Given the description of an element on the screen output the (x, y) to click on. 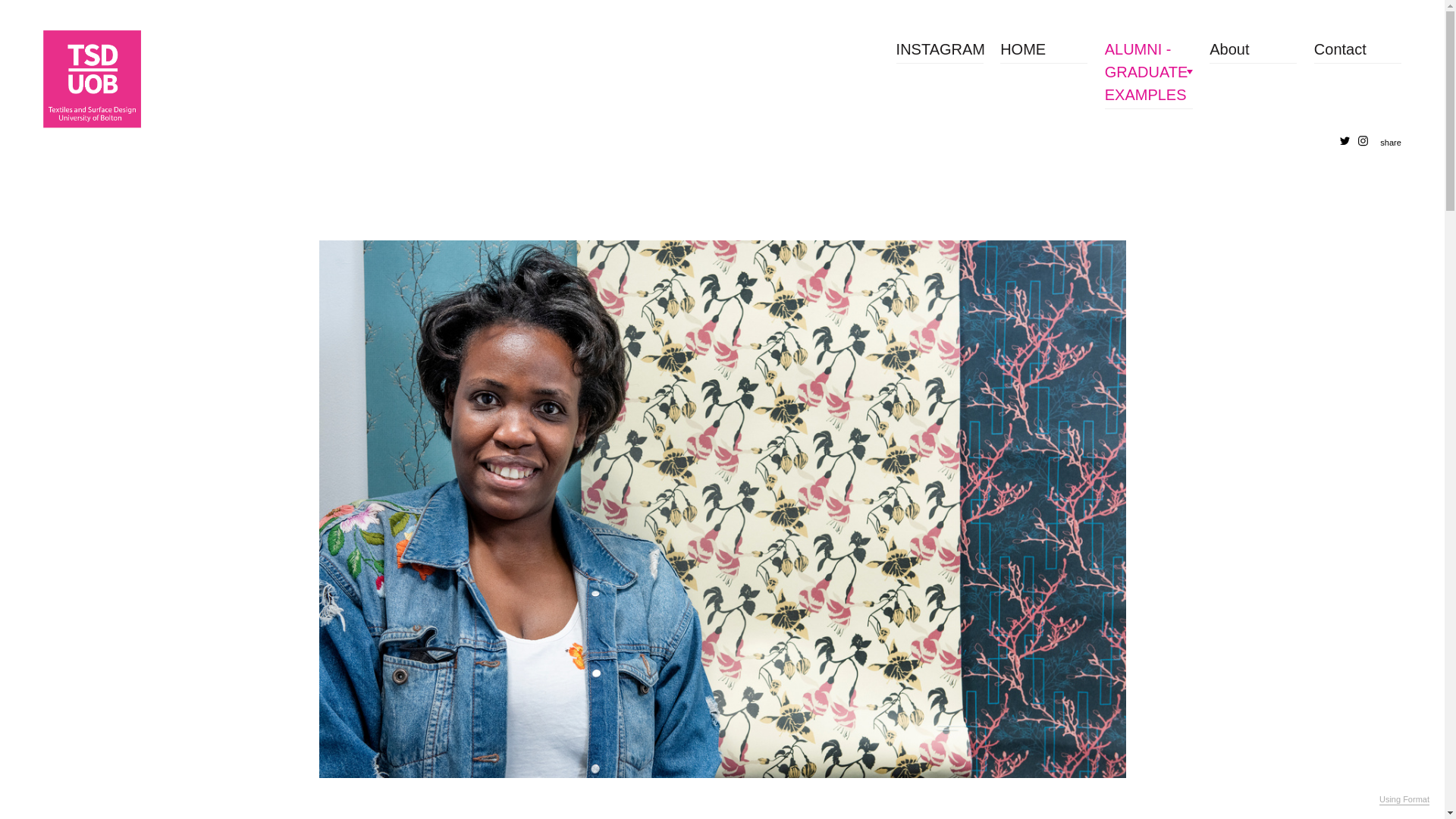
HOME (1043, 48)
About (1253, 48)
Contact (1357, 48)
share (1390, 142)
ALUMNI - GRADUATE EXAMPLES (1148, 71)
INSTAGRAM (940, 48)
